Given the description of an element on the screen output the (x, y) to click on. 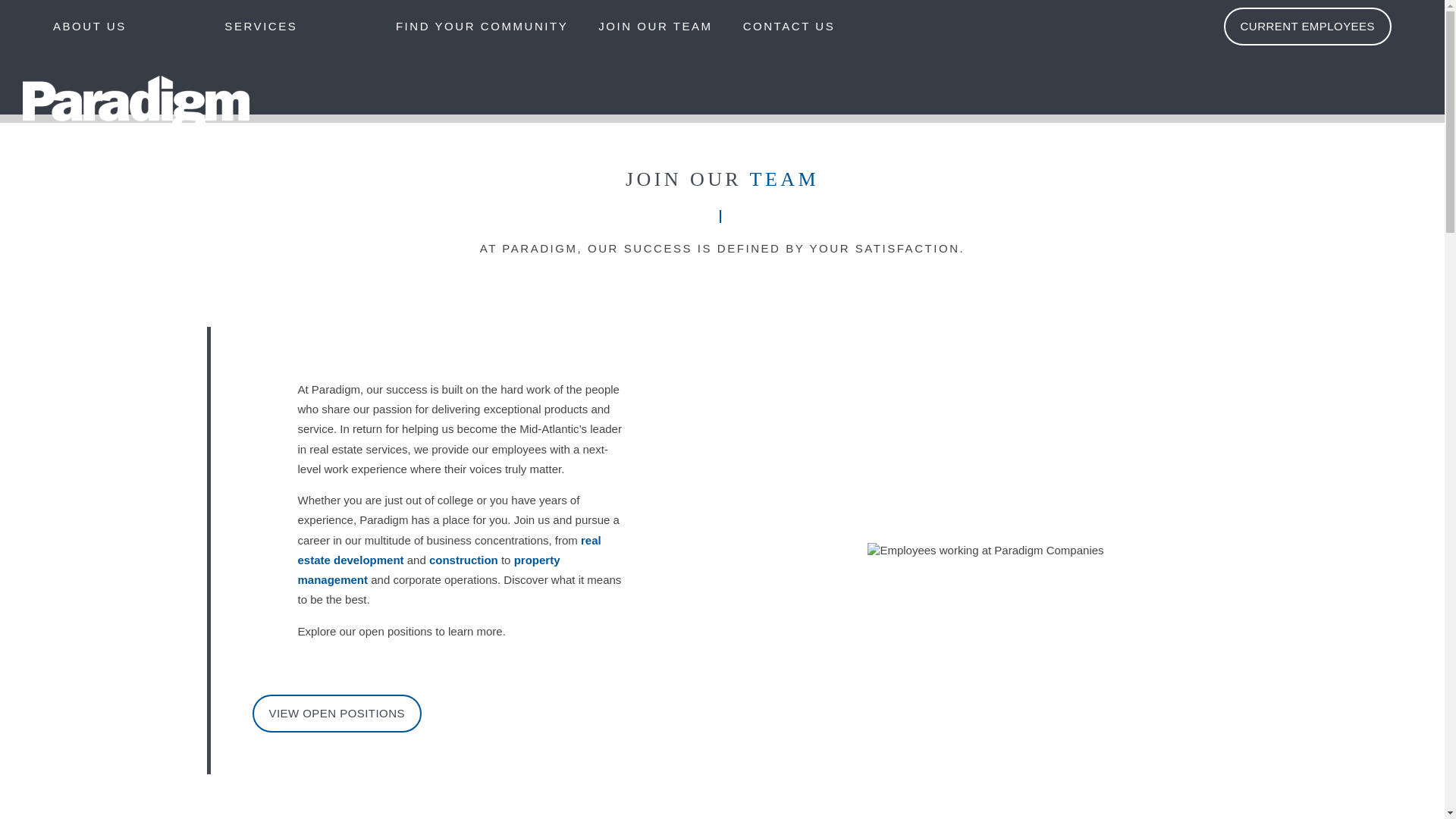
CURRENT EMPLOYEES (1307, 26)
property management (428, 569)
FIND YOUR COMMUNITY (481, 26)
JOIN OUR TEAM (654, 26)
real estate development (448, 549)
VIEW OPEN POSITIONS (335, 713)
SERVICES (260, 26)
CONTACT US (789, 26)
construction (463, 559)
ABOUT US (96, 26)
